Given the description of an element on the screen output the (x, y) to click on. 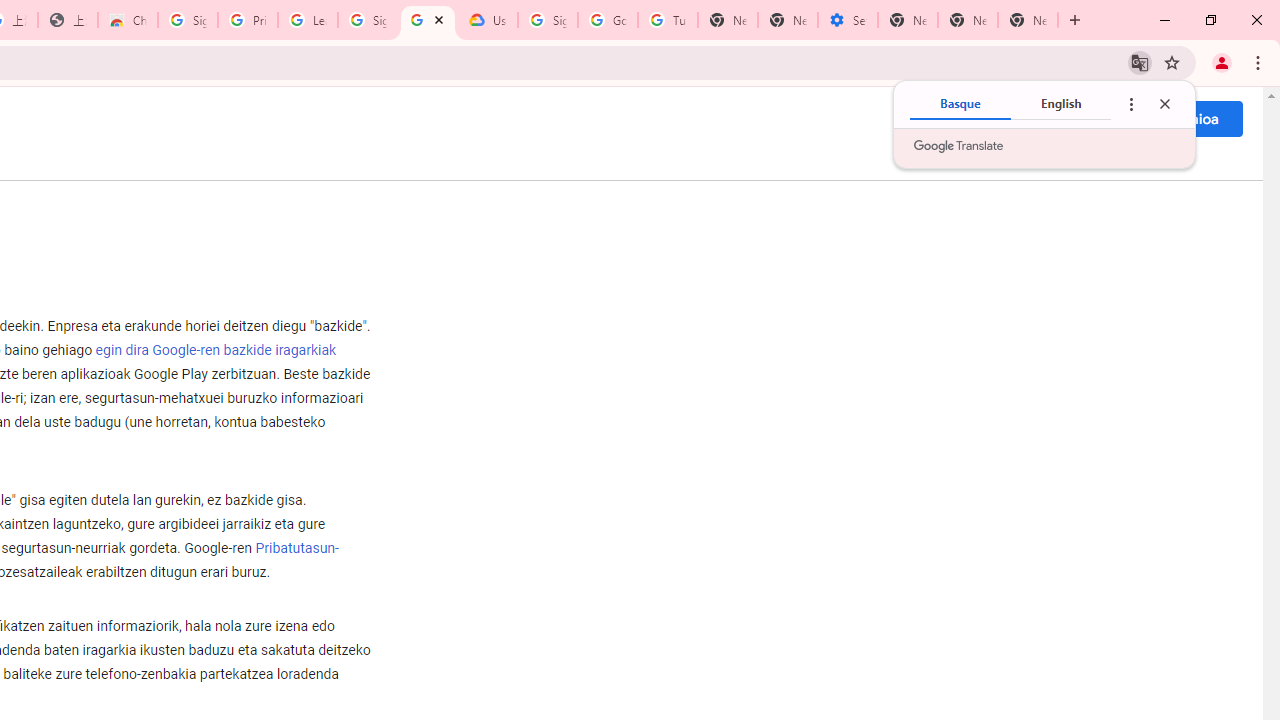
Sign in - Google Accounts (367, 20)
Google Account Help (607, 20)
Settings - Addresses and more (847, 20)
Hasi saioa (1184, 118)
Sign in - Google Accounts (548, 20)
Chrome Web Store - Color themes by Chrome (127, 20)
New Tab (908, 20)
Google-ren aplikazioak (1095, 118)
Turn cookies on or off - Computer - Google Account Help (667, 20)
Translate this page (1139, 62)
